Given the description of an element on the screen output the (x, y) to click on. 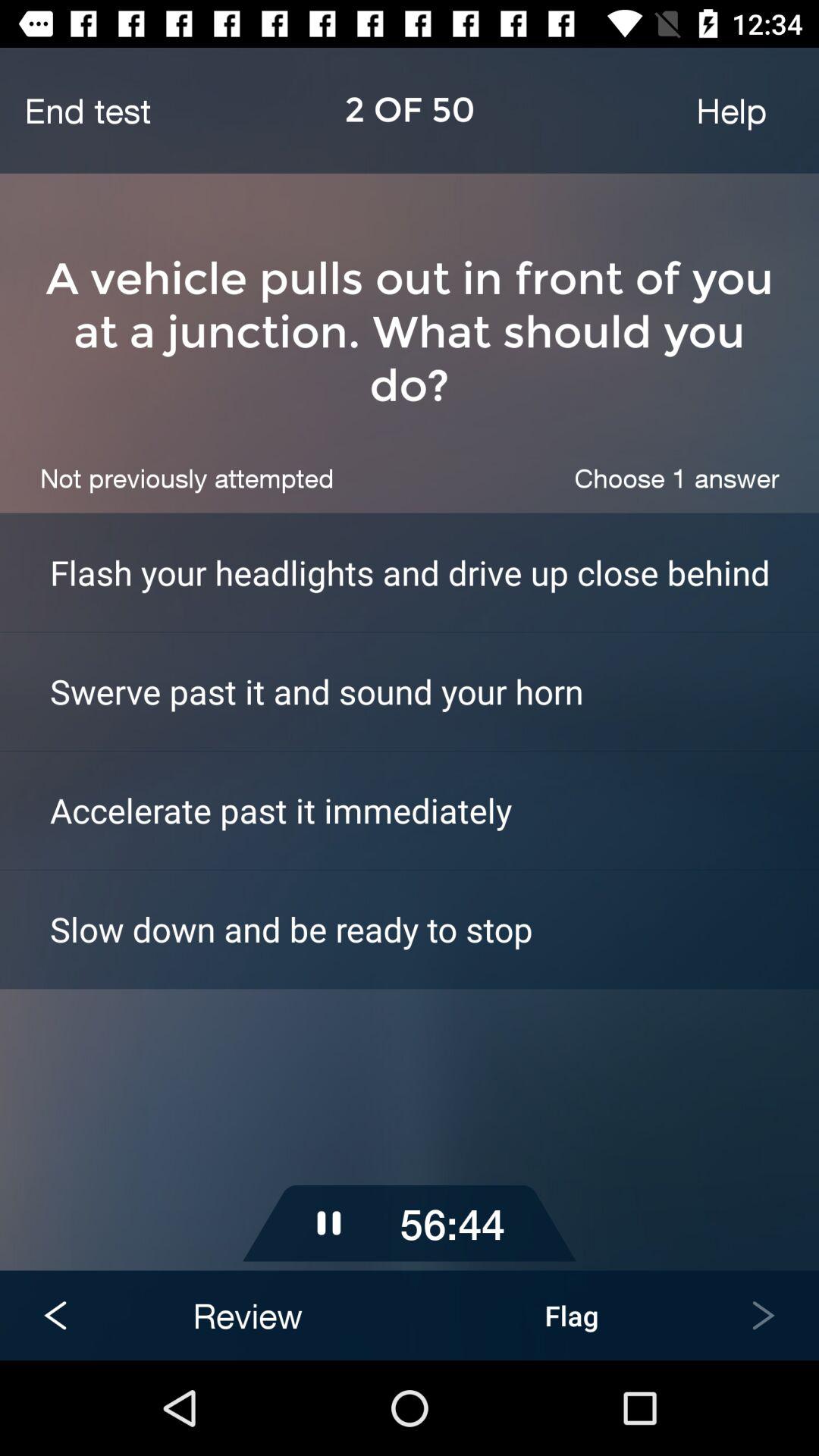
turn off the choose 1 answer icon (676, 477)
